Given the description of an element on the screen output the (x, y) to click on. 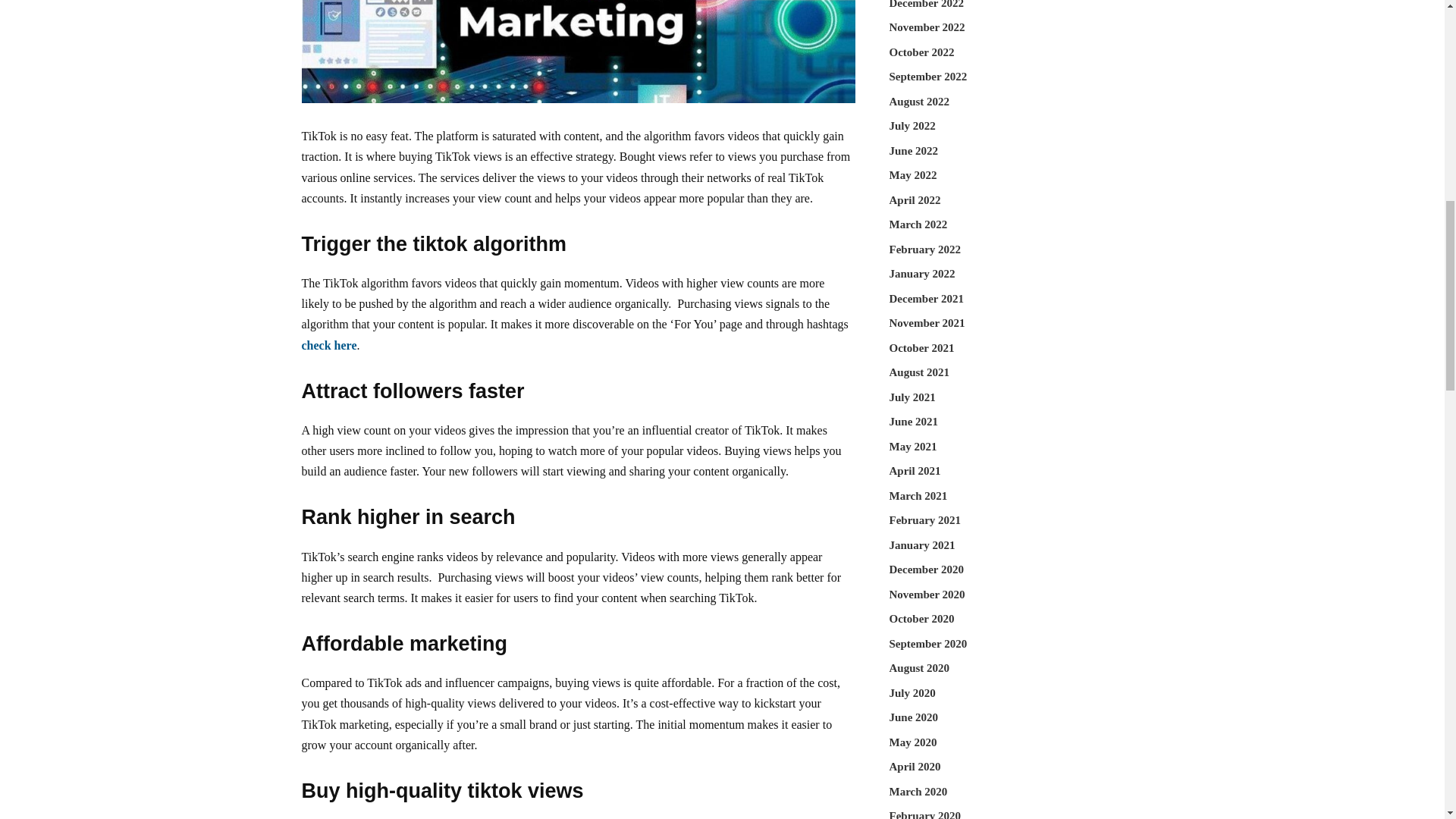
check here (328, 345)
